Given the description of an element on the screen output the (x, y) to click on. 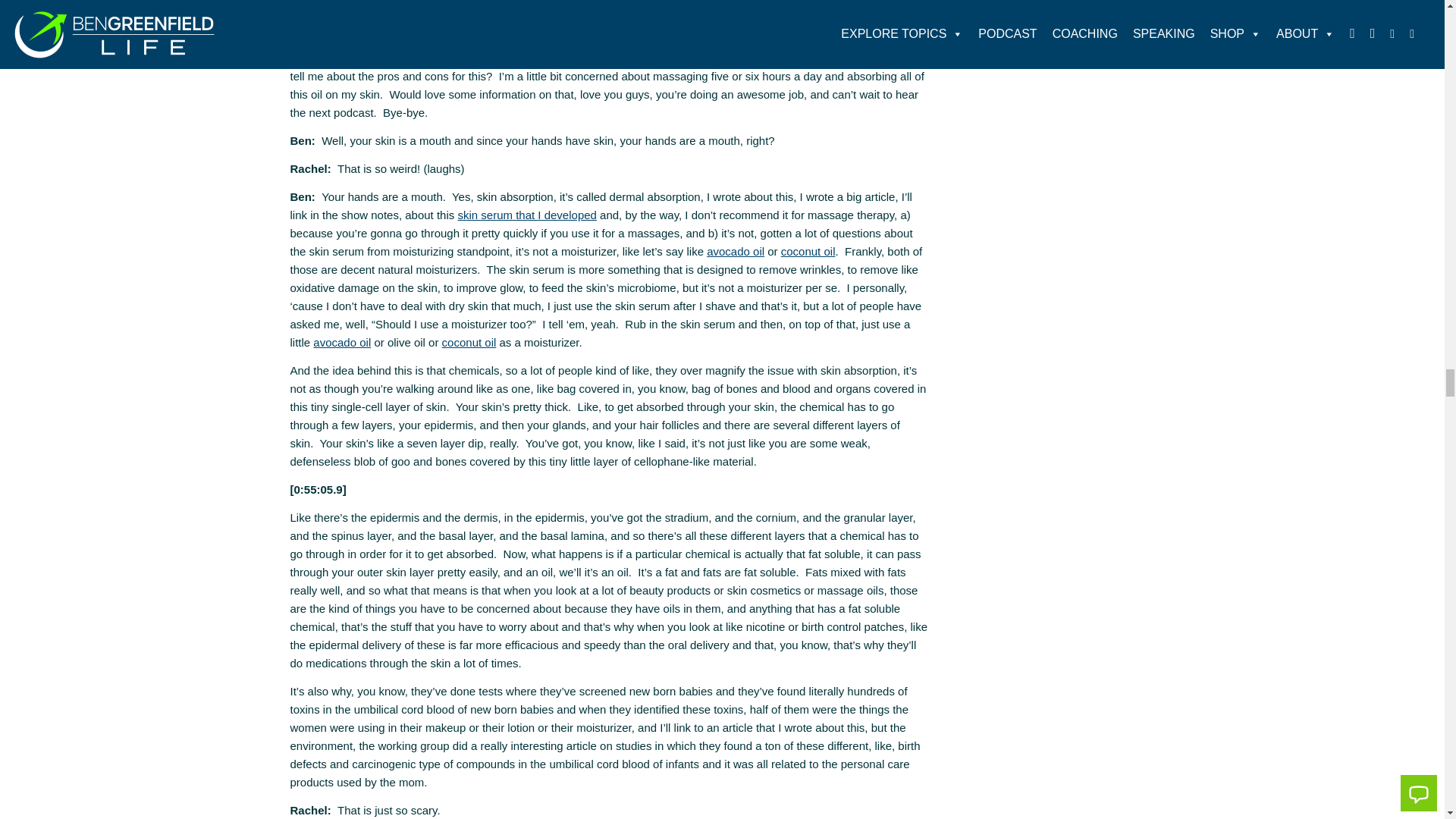
Ava Jane's Kitchen - Avocado Oil Club (735, 250)
Coconut Oil Amazon (807, 250)
Ava Jane's Kitchen - Avocado Oil Club (342, 341)
Coconut Oil Amazon (469, 341)
